Given the description of an element on the screen output the (x, y) to click on. 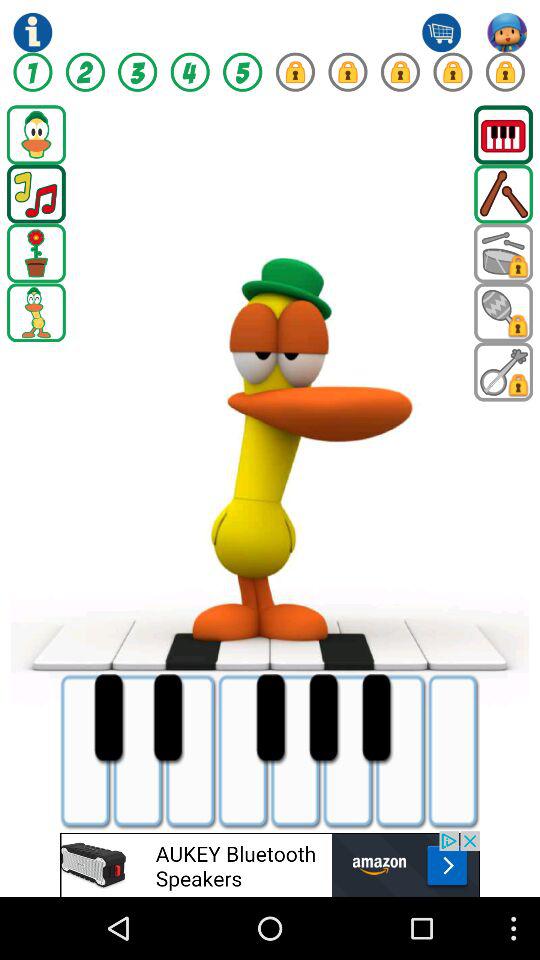
next page (503, 312)
